Given the description of an element on the screen output the (x, y) to click on. 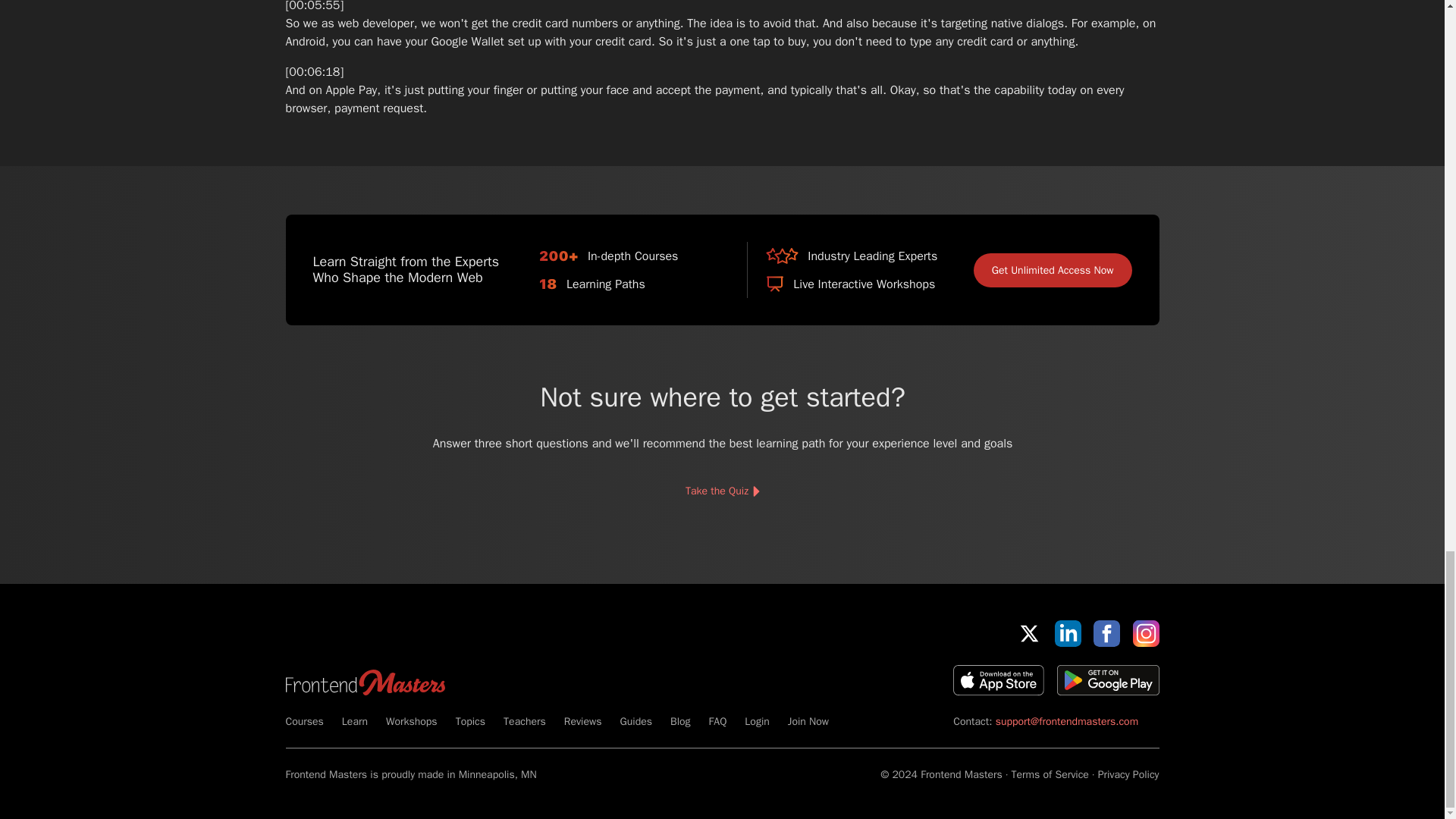
Workshops (411, 721)
Topics (469, 721)
Instagram (1145, 633)
Apple App Store (998, 680)
Google App Store (1107, 680)
Learn (355, 721)
Take the Quiz (720, 490)
FAQ (717, 721)
Blog (679, 721)
Reviews (583, 721)
Get Unlimited Access Now (1053, 270)
LinkedIn (1067, 633)
Teachers (524, 721)
Join Now (807, 721)
Facebook (1106, 633)
